Given the description of an element on the screen output the (x, y) to click on. 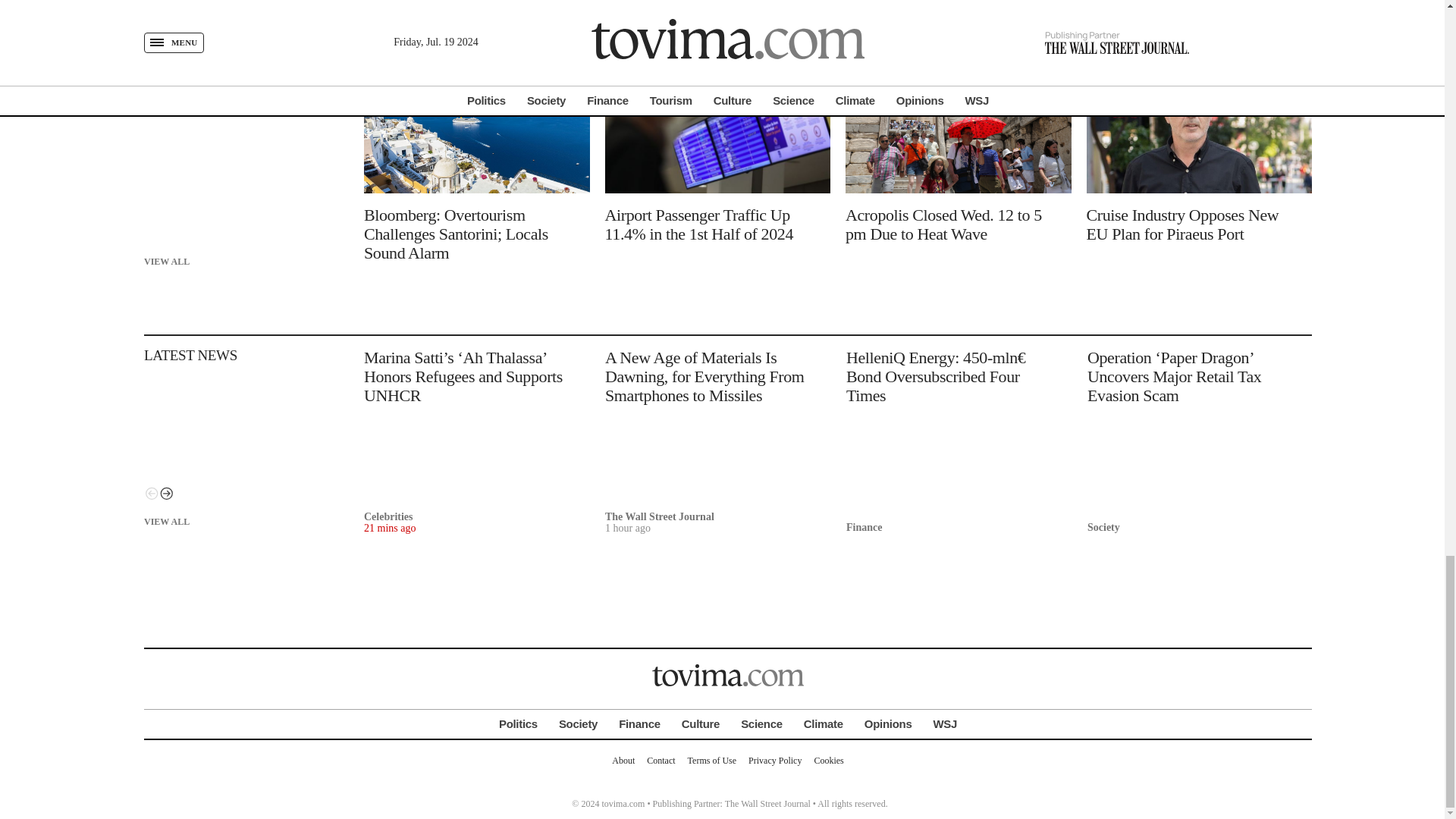
tovima.com (727, 675)
